Given the description of an element on the screen output the (x, y) to click on. 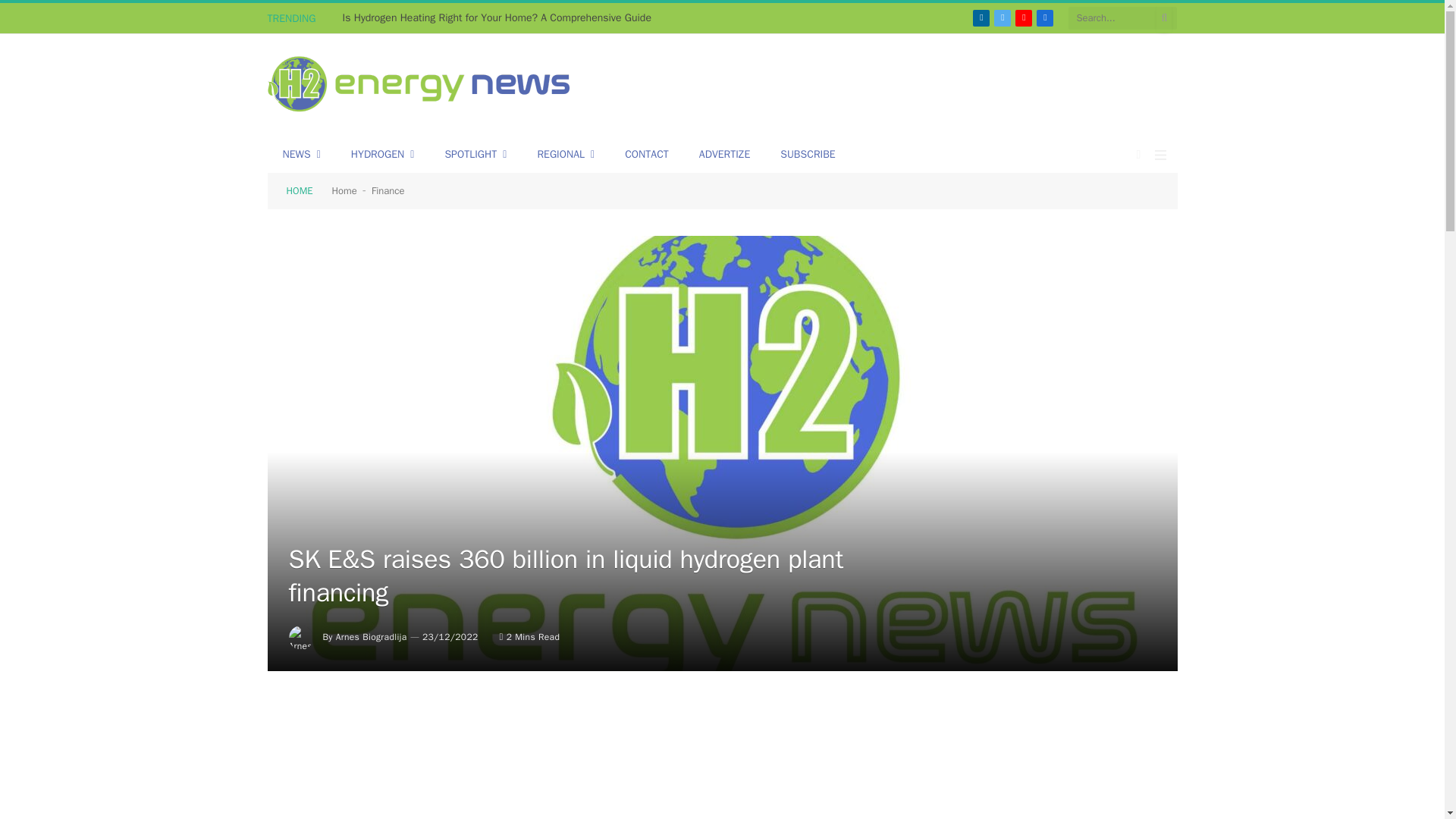
NEWS (300, 154)
YouTube (1023, 17)
Green Hydrogen News (418, 85)
Switch to Dark Design - easier on eyes. (1138, 154)
Facebook (1044, 17)
HYDROGEN (382, 154)
Posts by Arnes Biogradlija (371, 636)
LinkedIn (981, 17)
